Given the description of an element on the screen output the (x, y) to click on. 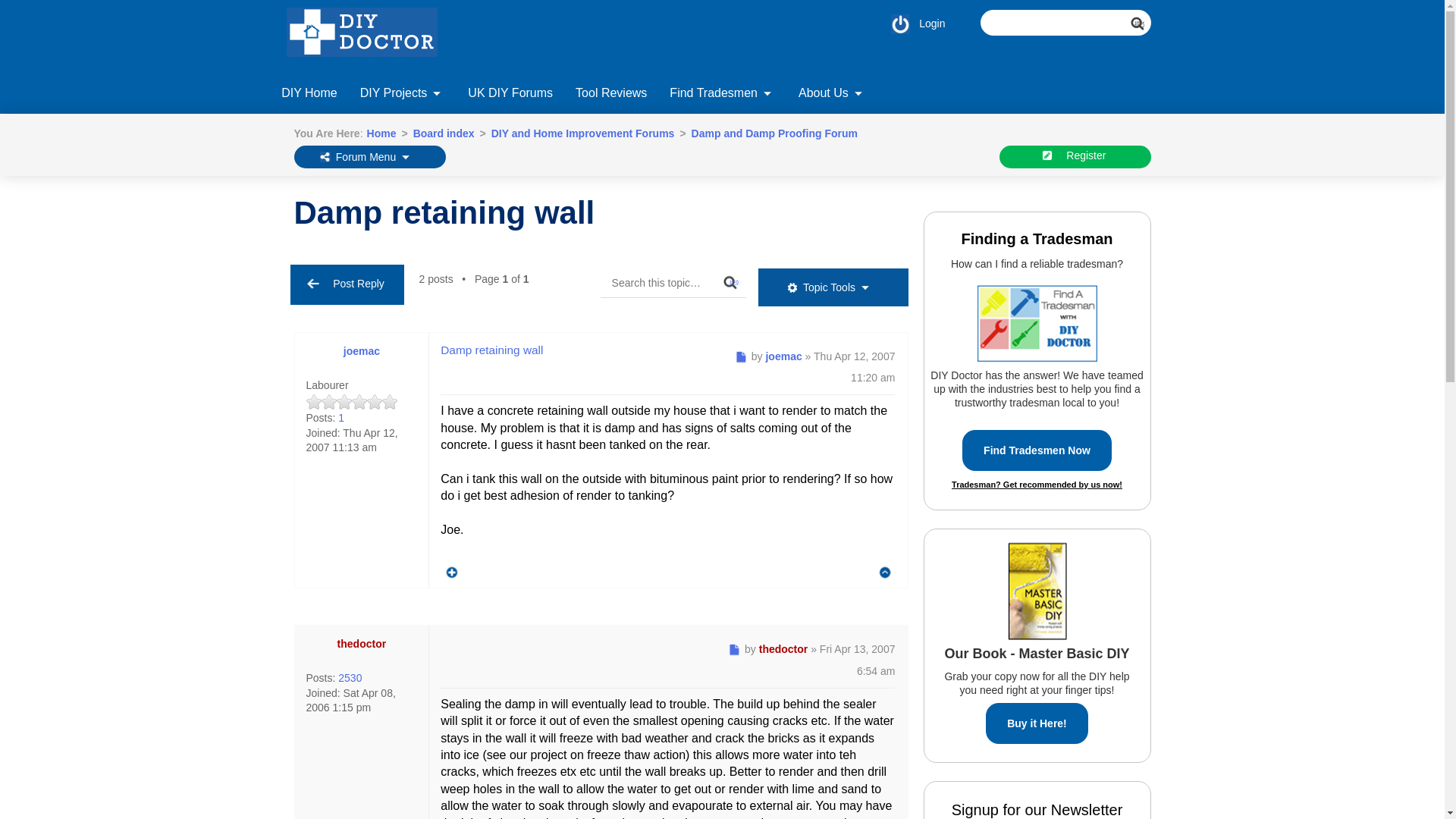
DIY Projects (403, 88)
Login (913, 23)
DIY Doctor company logo (369, 36)
DIY Projects (403, 94)
Find Tradesmen (722, 94)
DIY Home (309, 94)
Search (1143, 30)
Search for keywords (1064, 22)
Find Tradesmen (722, 88)
DIY Doctor DIY help and advice (309, 88)
UK DIY Forums (510, 88)
Login (913, 23)
UK DIY Forums (510, 94)
DIY Home (309, 88)
Tool Reviews (611, 94)
